Given the description of an element on the screen output the (x, y) to click on. 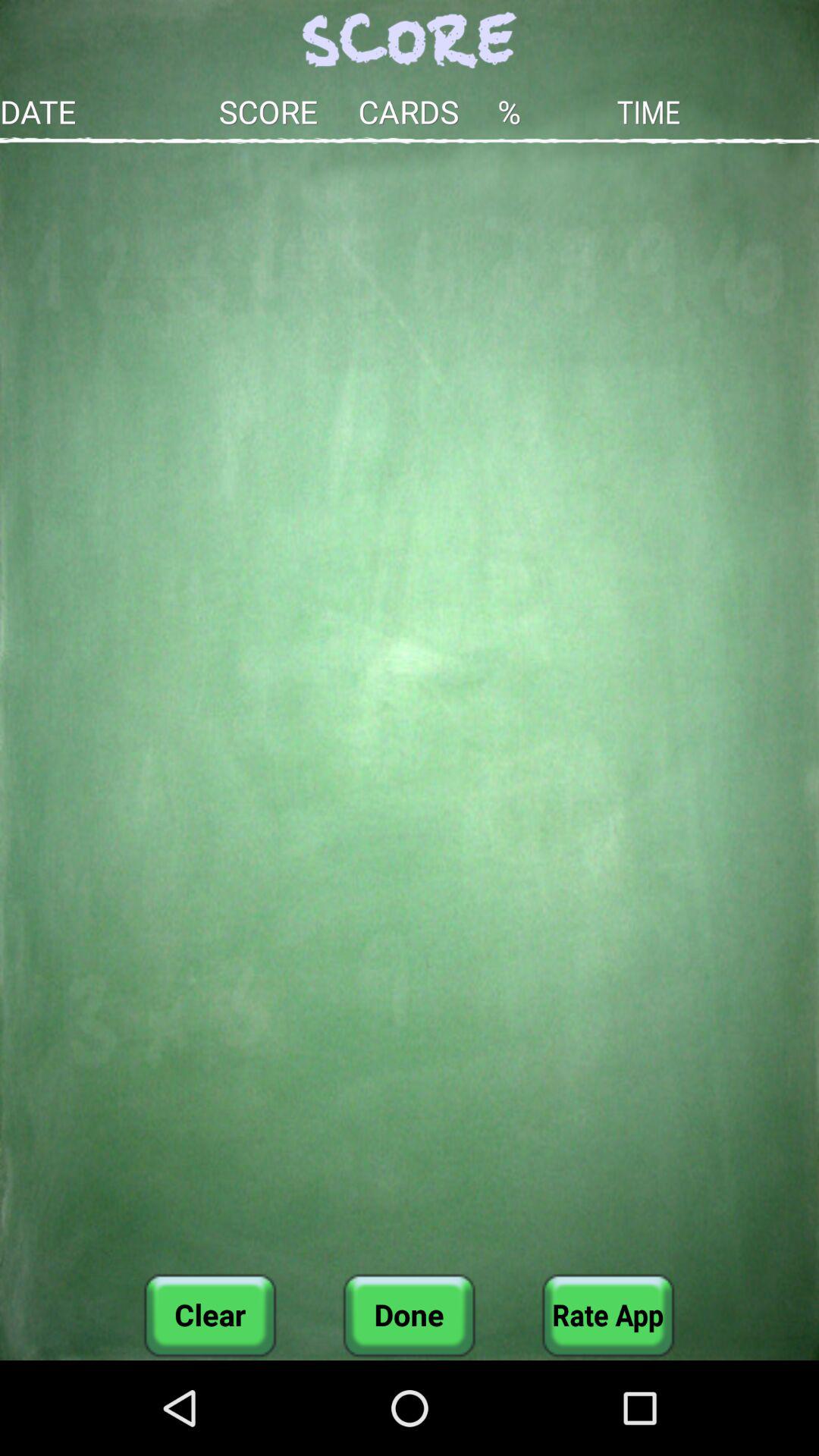
turn off done (408, 1315)
